Given the description of an element on the screen output the (x, y) to click on. 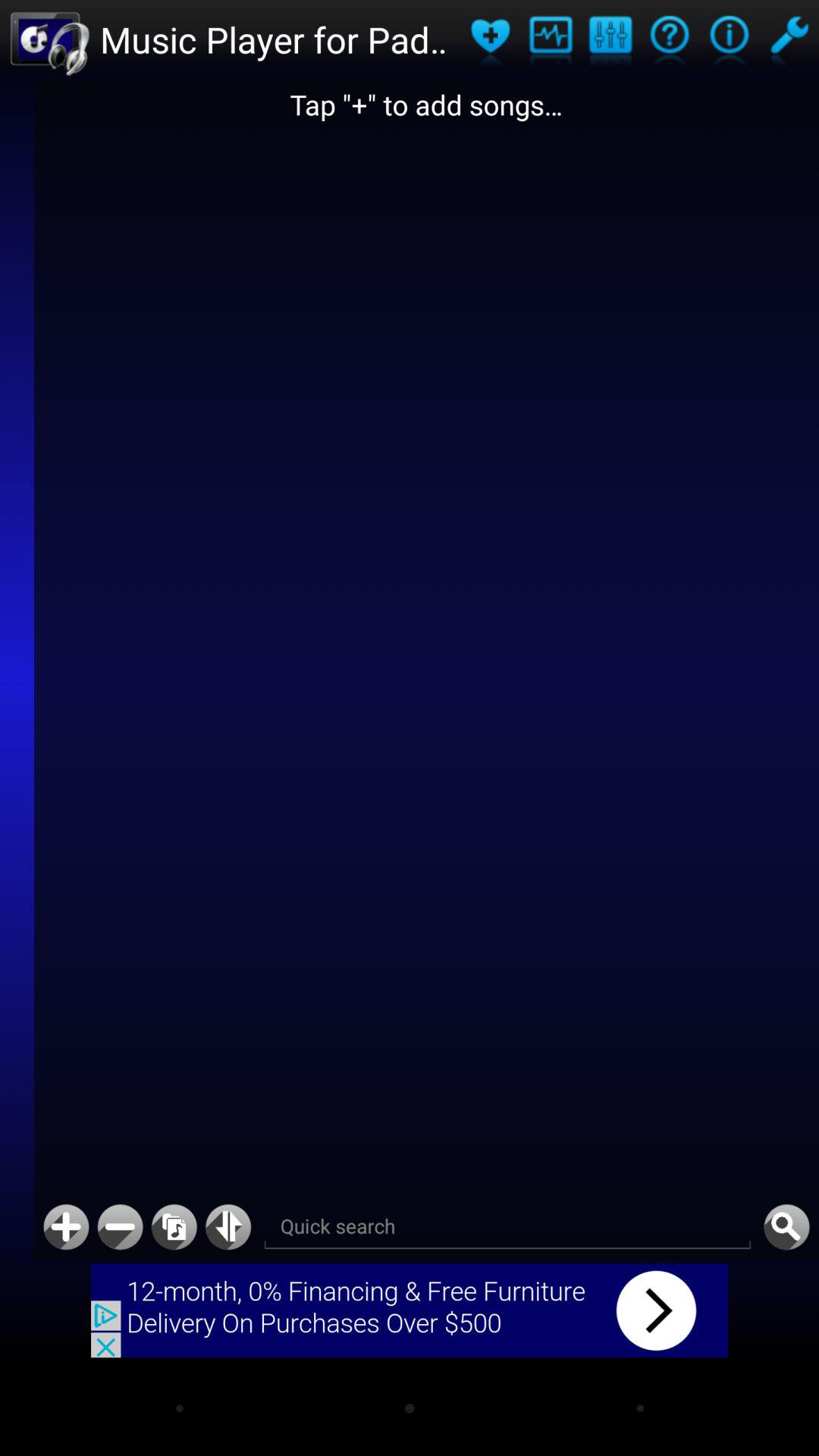
deletes this page (120, 1226)
